Given the description of an element on the screen output the (x, y) to click on. 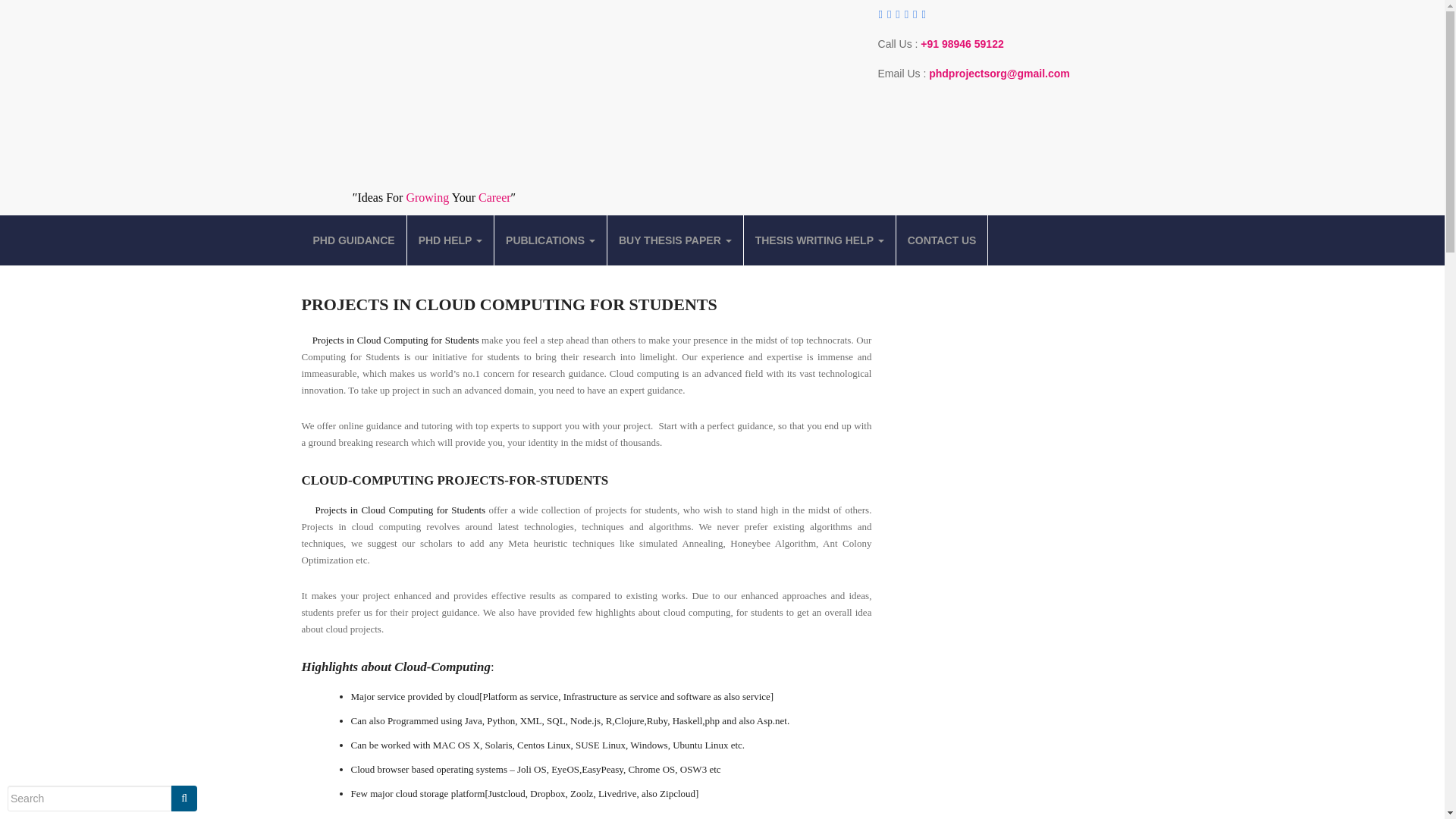
PUBLICATIONS (551, 240)
PHD GUIDANCE (353, 240)
PHD HELP (450, 240)
PHD Guidance (353, 240)
PHD HELP (450, 240)
